Given the description of an element on the screen output the (x, y) to click on. 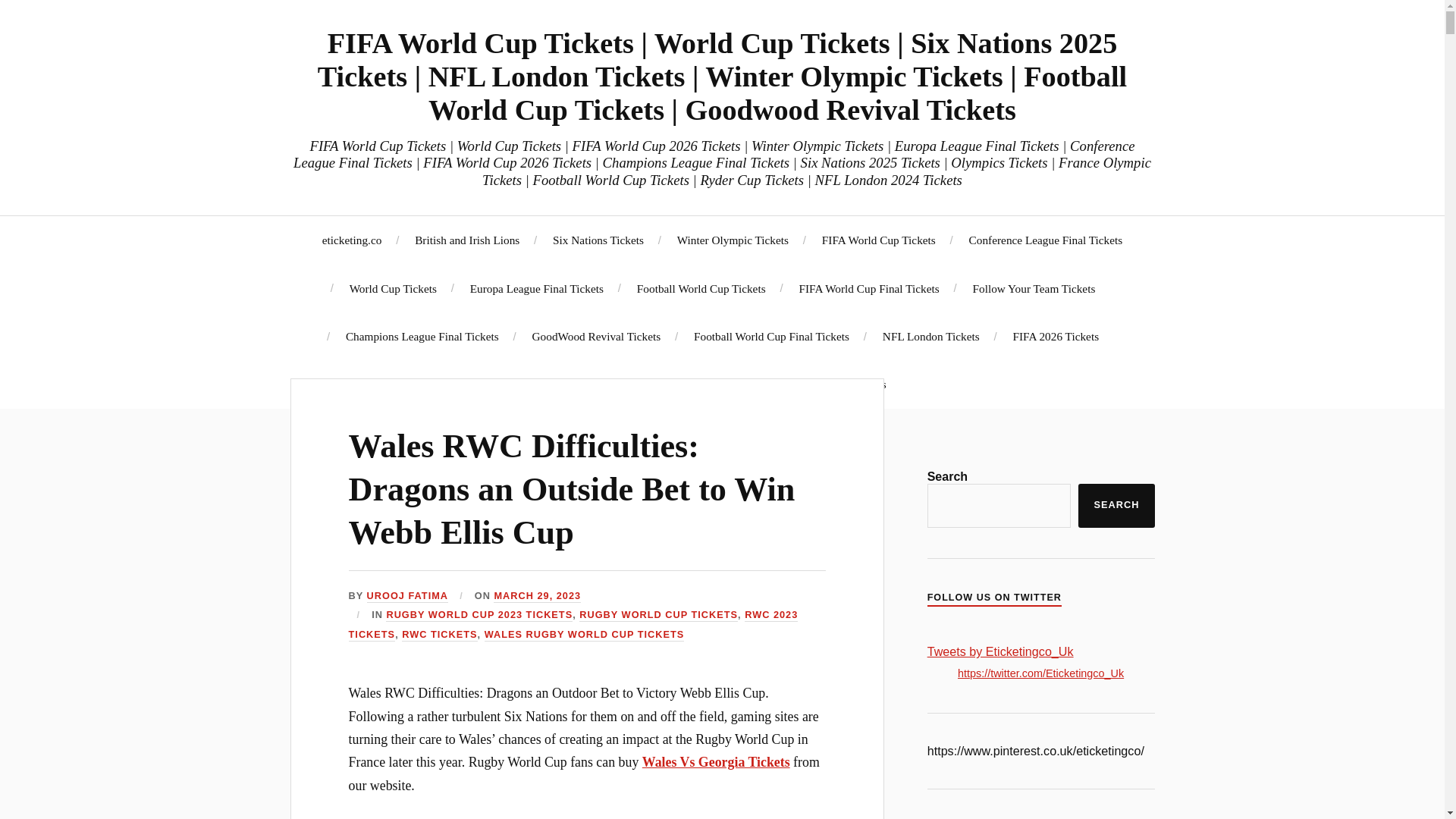
FIFA World Cup Final Tickets (868, 288)
Football World Cup Tickets (701, 288)
FIFA 2026 Tickets (1055, 336)
Champions League Final Tickets (422, 336)
FIFA World Cup 2026 Tickets (627, 383)
eticketing.co (351, 239)
Winter Olympic Tickets (733, 239)
Six Nations Tickets (598, 239)
Football World Cup Final Tickets (771, 336)
Posts by Urooj Fatima (407, 595)
